Given the description of an element on the screen output the (x, y) to click on. 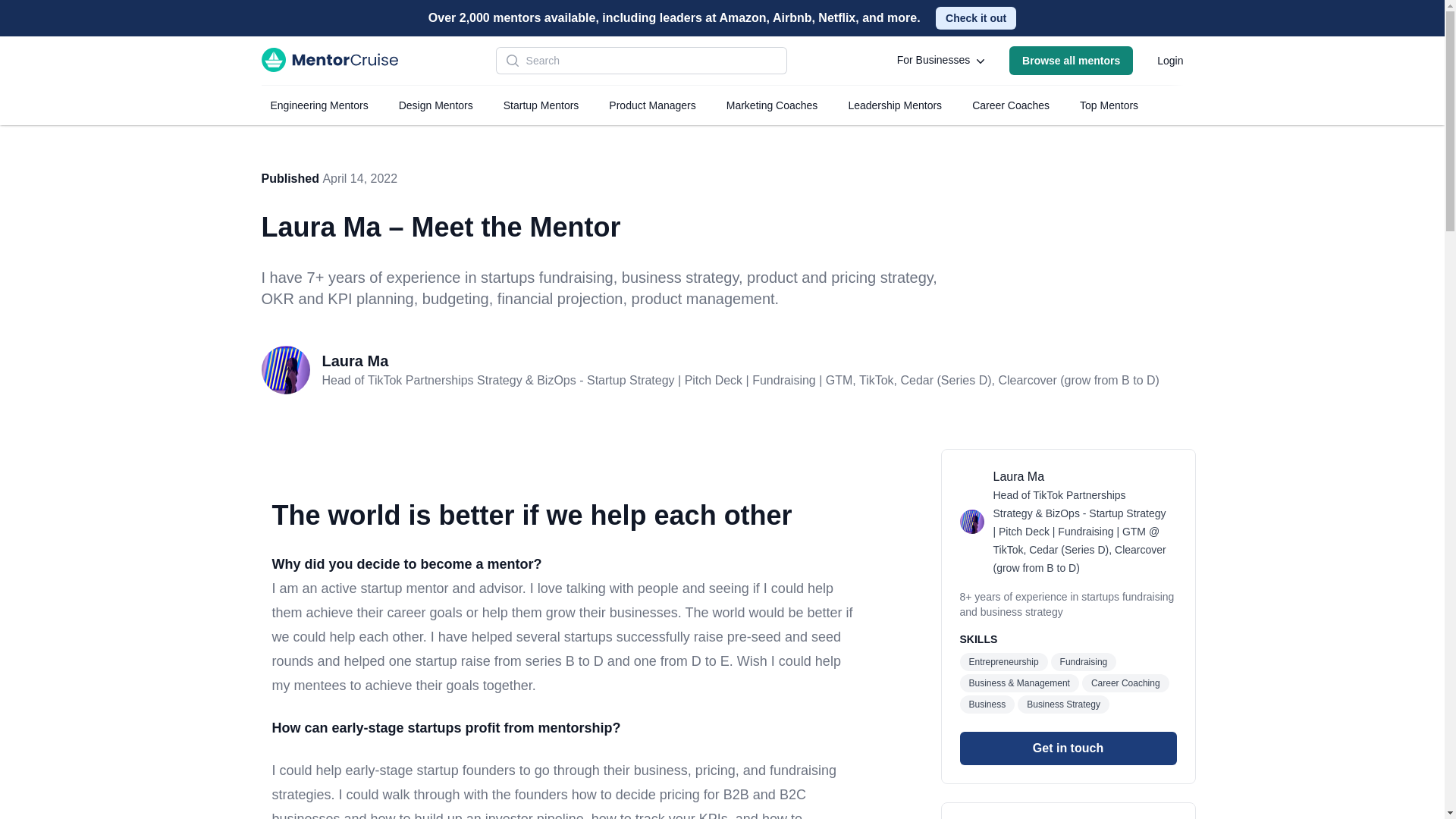
Design Mentors (435, 104)
Login (1169, 60)
Fundraising (1083, 661)
Leadership Mentors (894, 104)
Career Coaches (1010, 104)
Get in touch (1067, 748)
Career Coaching (1125, 683)
Entrepreneurship (1003, 661)
Engineering Mentors (318, 104)
Business Strategy (1063, 704)
Startup Mentors (541, 104)
Marketing Coaches (772, 104)
Business (986, 704)
